Given the description of an element on the screen output the (x, y) to click on. 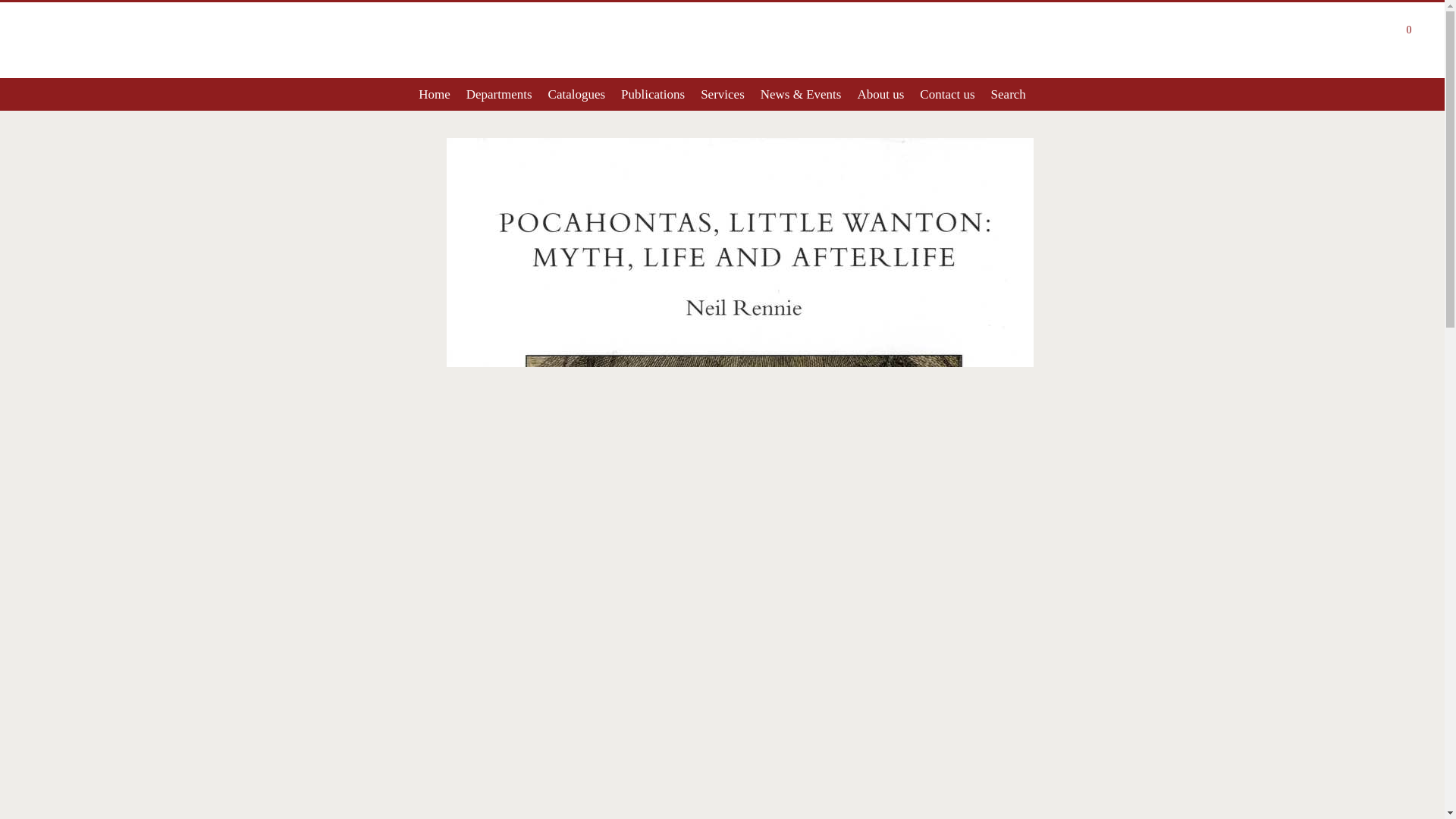
About us (880, 93)
Catalogues (576, 93)
0 (1407, 32)
Services (722, 93)
Home (434, 93)
Search (1008, 93)
Departments (499, 93)
Contact us (947, 93)
Publications (652, 93)
